Given the description of an element on the screen output the (x, y) to click on. 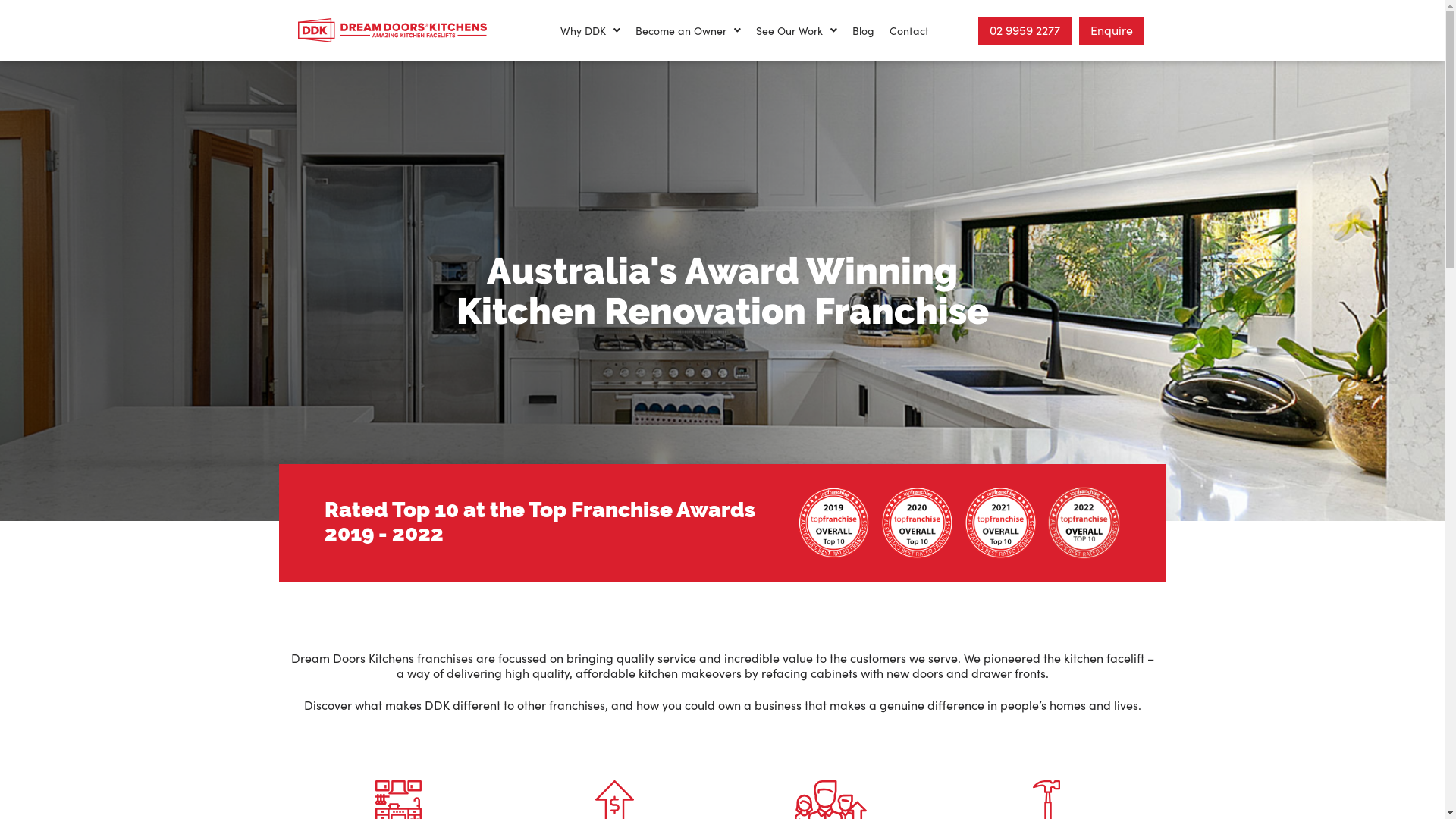
Blog Element type: text (862, 30)
Become an Owner Element type: text (687, 30)
See Our Work Element type: text (796, 30)
02 9959 2277 Element type: text (1024, 30)
Why DDK Element type: text (589, 30)
Contact Element type: text (908, 30)
Enquire Element type: text (1111, 30)
